Given the description of an element on the screen output the (x, y) to click on. 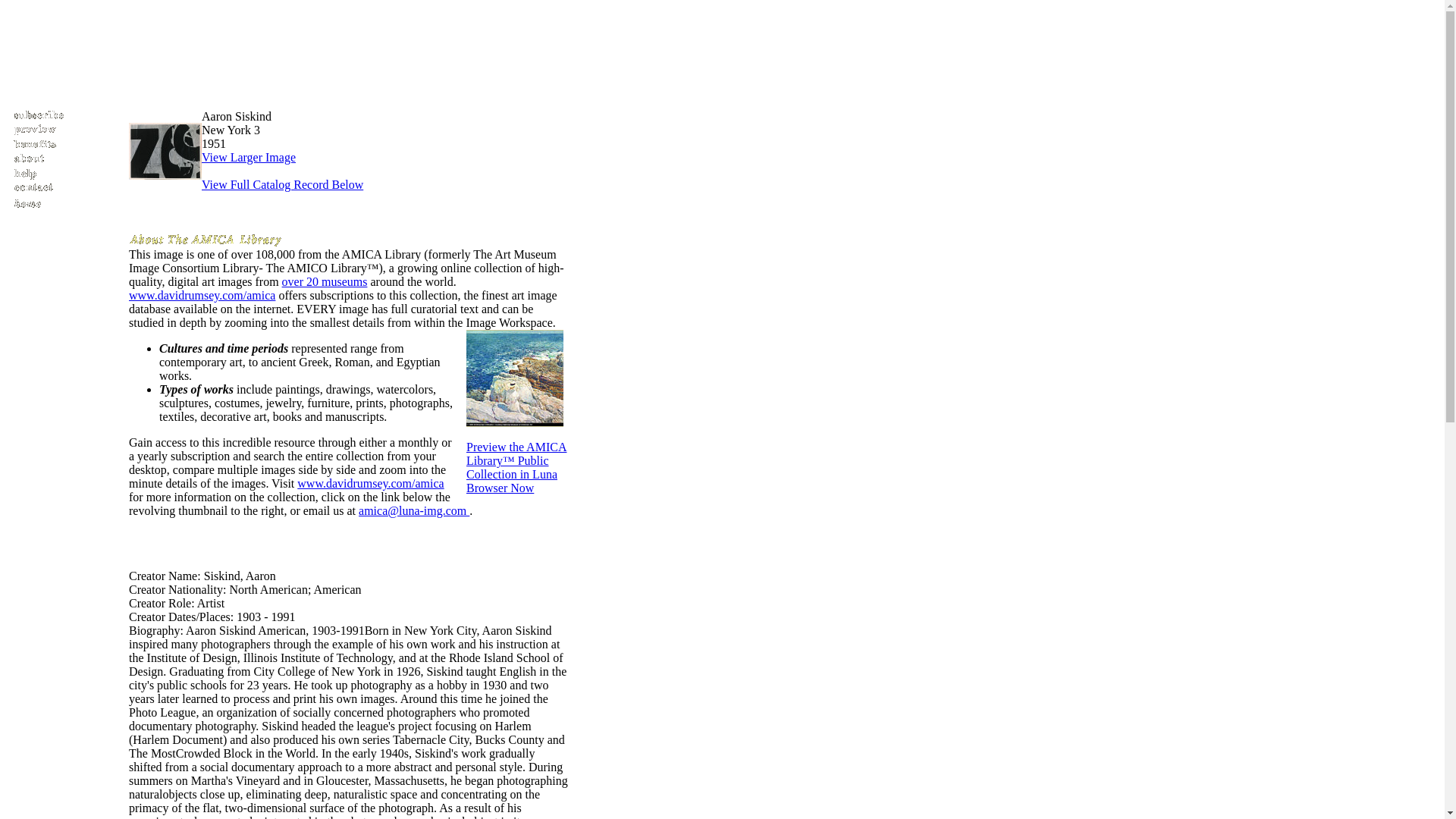
over 20 museums (325, 281)
View Full Catalog Record Below (282, 191)
View Larger Image (248, 156)
